Given the description of an element on the screen output the (x, y) to click on. 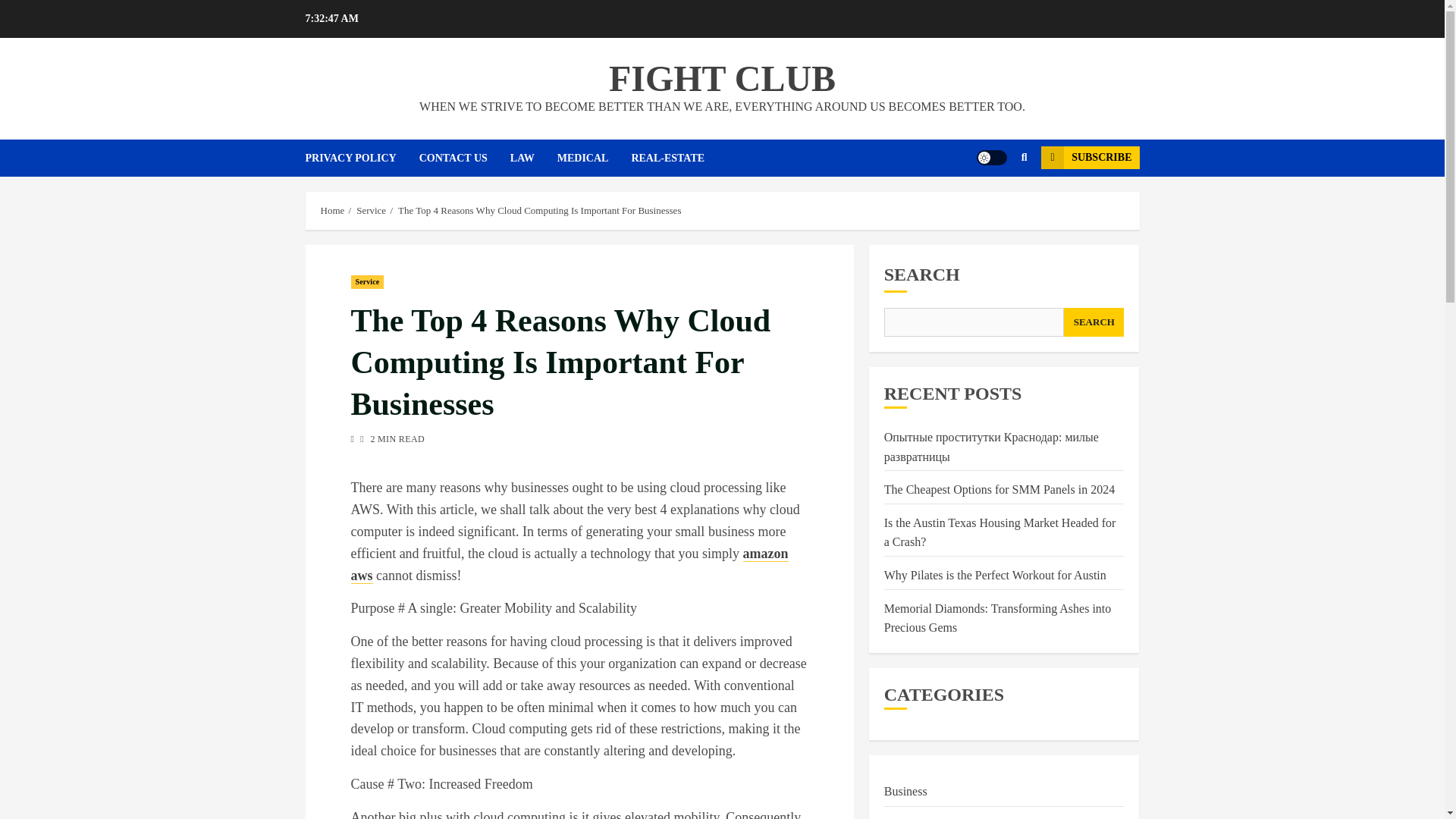
amazon aws (568, 564)
Business (905, 792)
Search (994, 203)
FIGHT CLUB (721, 78)
Service (367, 282)
Service (370, 210)
MEDICAL (594, 157)
LAW (534, 157)
Home (331, 210)
REAL-ESTATE (678, 157)
Education (908, 817)
Why Pilates is the Perfect Workout for Austin (994, 575)
PRIVACY POLICY (361, 157)
CONTACT US (465, 157)
